Given the description of an element on the screen output the (x, y) to click on. 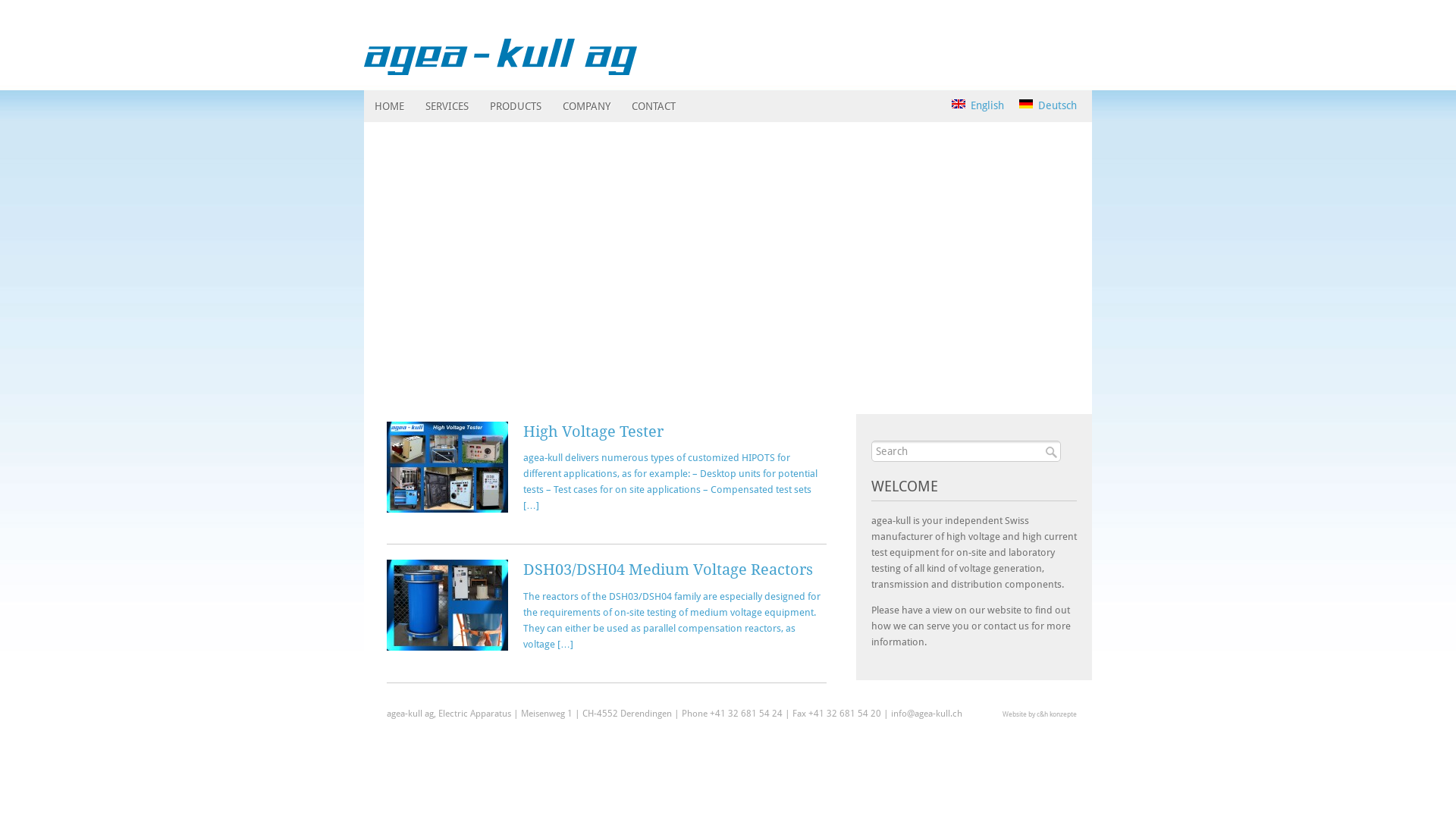
SERVICES Element type: text (446, 106)
info@agea-kull.ch Element type: text (926, 713)
PRODUCTS Element type: text (515, 106)
Deutsch Element type: text (1047, 105)
c&h konzepte Element type: text (1056, 713)
CONTACT Element type: text (653, 106)
Agea-Kull Element type: hover (500, 34)
English Element type: text (977, 105)
HOME Element type: text (389, 106)
COMPANY Element type: text (586, 106)
